Given the description of an element on the screen output the (x, y) to click on. 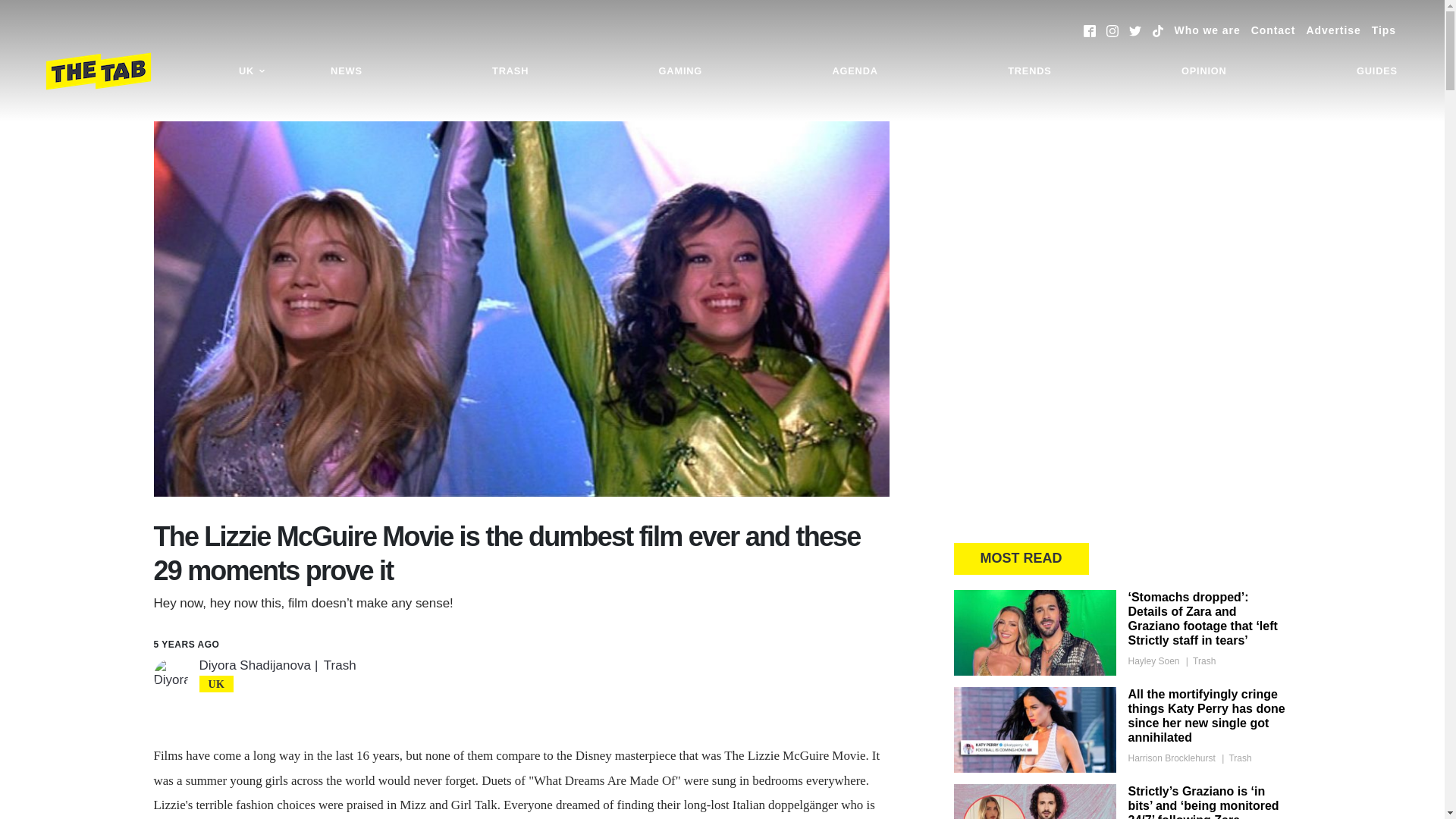
Tips (1383, 29)
GAMING (680, 71)
TRASH (510, 71)
OPINION (1204, 71)
Contact (1272, 29)
GUIDES (1377, 71)
NEWS (346, 71)
UK (252, 71)
TRENDS (1028, 71)
AGENDA (854, 71)
Who we are (1207, 29)
Advertise (1332, 29)
